Given the description of an element on the screen output the (x, y) to click on. 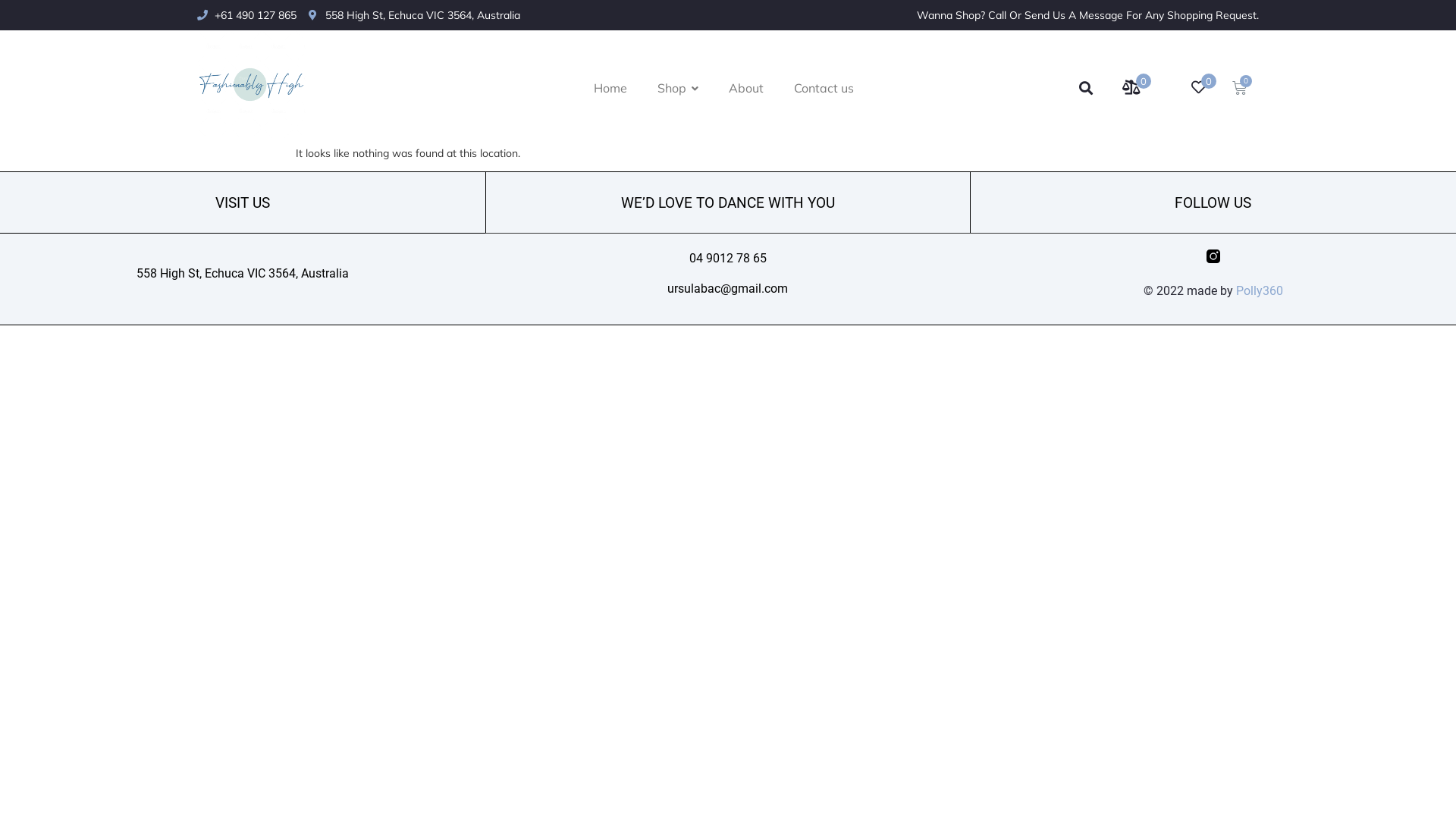
About Element type: text (746, 87)
Home Element type: text (610, 87)
0 Element type: text (1202, 86)
0 Element type: text (1135, 86)
Polly360 Element type: text (1259, 290)
+61 490 127 865 Element type: text (246, 14)
Contact us Element type: text (823, 87)
Shop Element type: text (677, 87)
558 High St, Echuca VIC 3564, Australia Element type: text (413, 14)
